Given the description of an element on the screen output the (x, y) to click on. 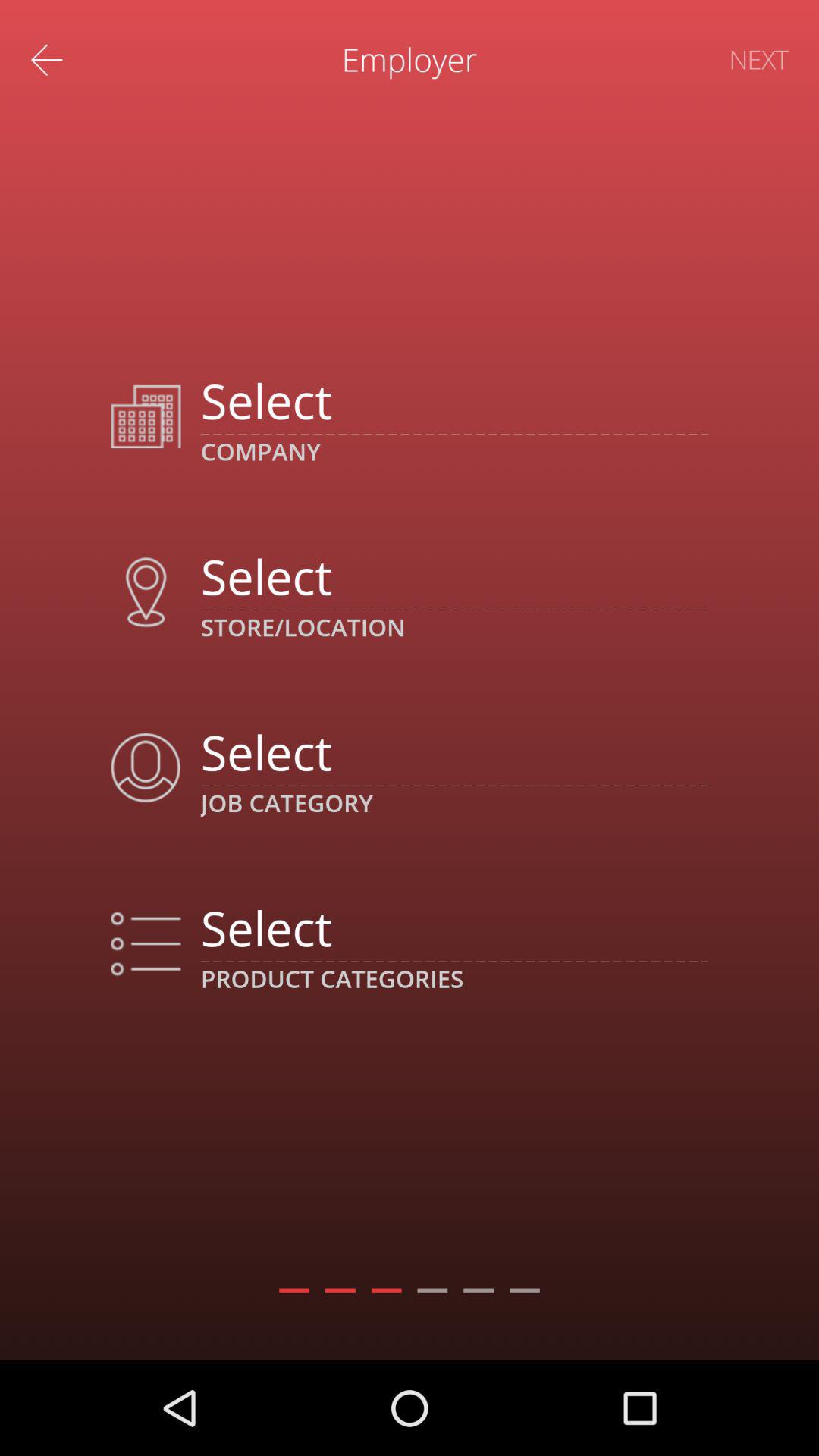
choose store (454, 575)
